Given the description of an element on the screen output the (x, y) to click on. 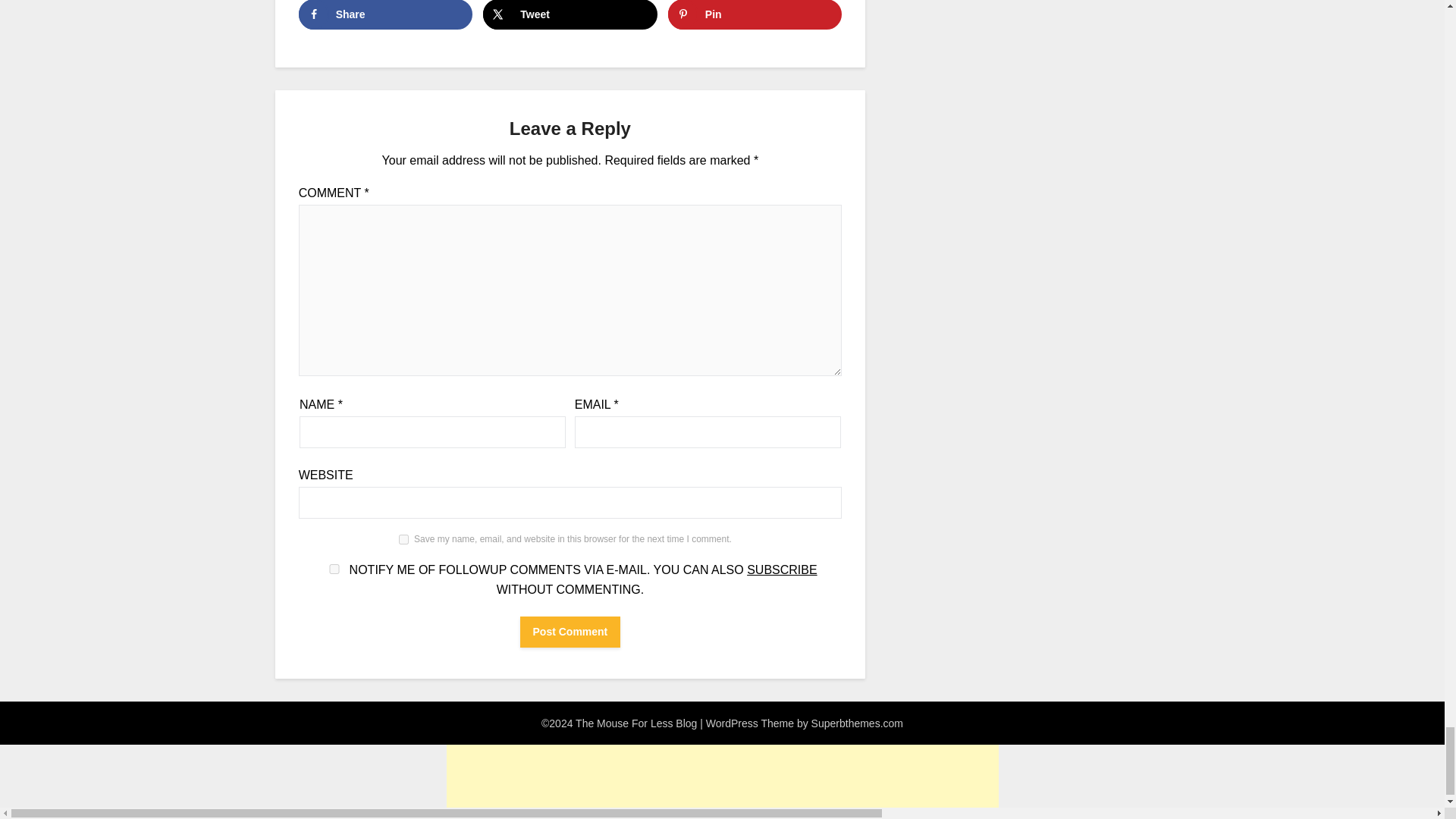
yes (334, 569)
Post Comment (570, 631)
yes (403, 539)
Share on Facebook (384, 14)
Save to Pinterest (754, 14)
Share on X (569, 14)
